Given the description of an element on the screen output the (x, y) to click on. 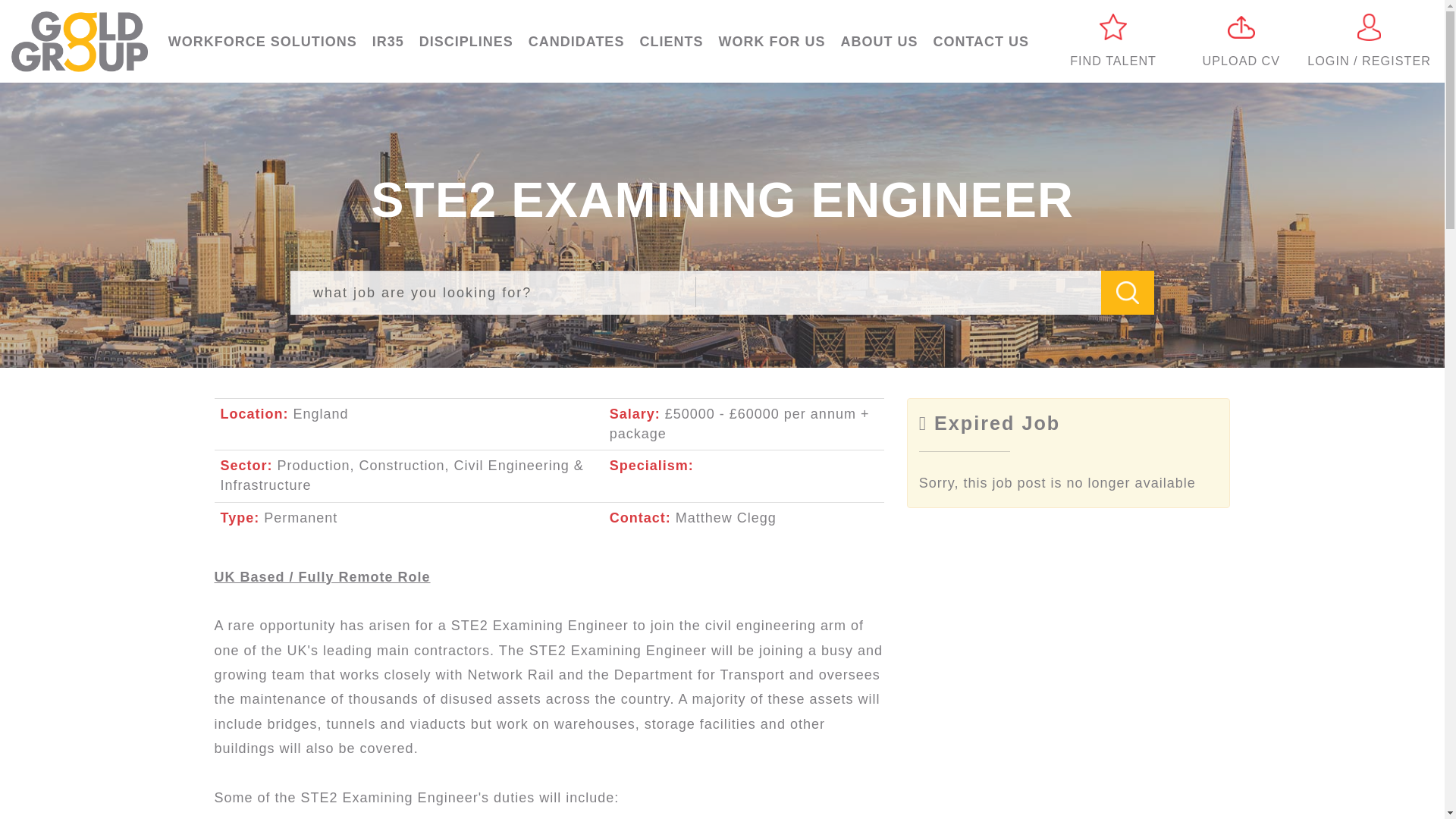
Find Talent (1113, 41)
Upload CV (1240, 41)
